Given the description of an element on the screen output the (x, y) to click on. 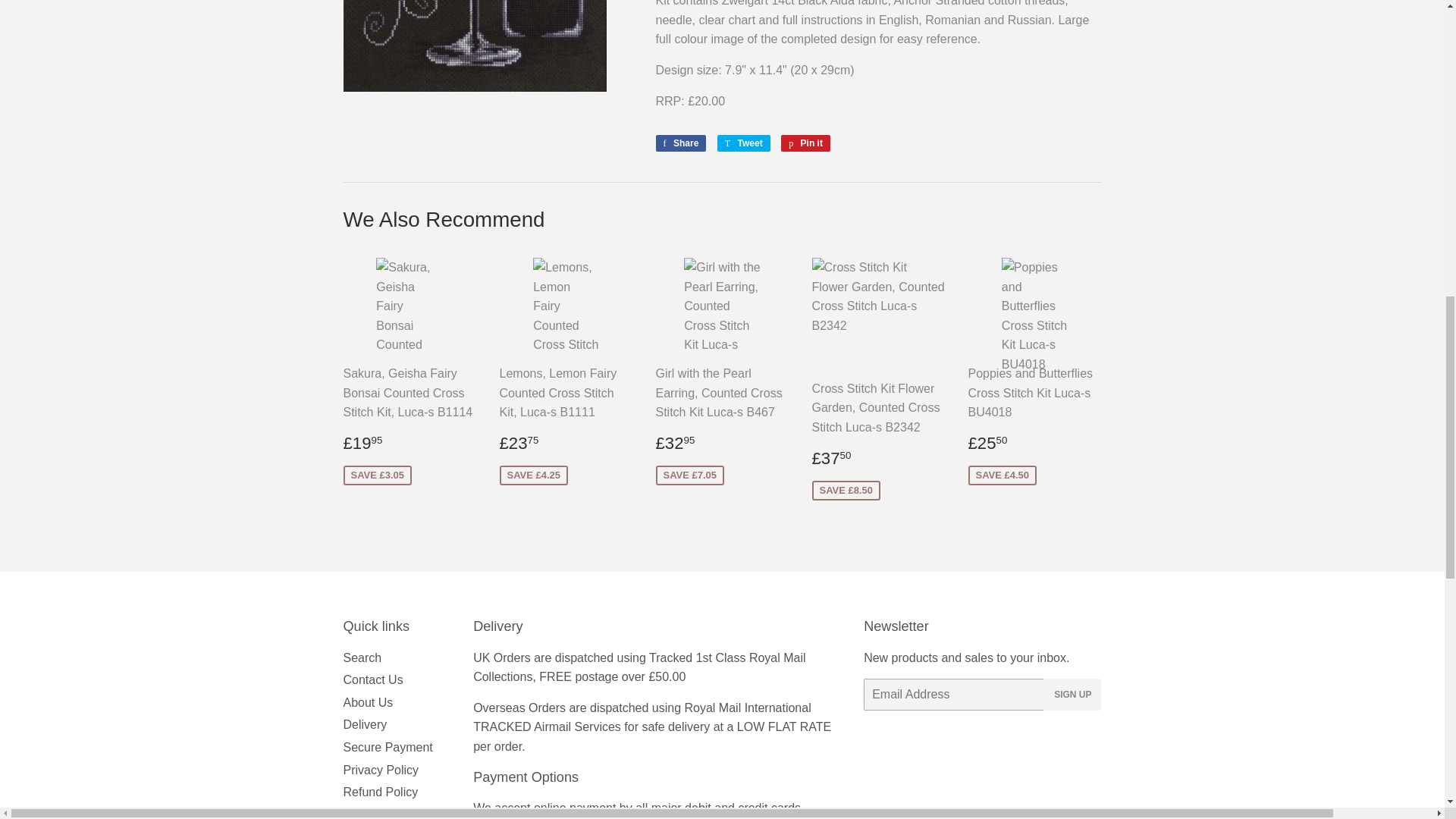
Pin on Pinterest (804, 143)
Tweet on Twitter (743, 143)
Share on Facebook (680, 143)
